Given the description of an element on the screen output the (x, y) to click on. 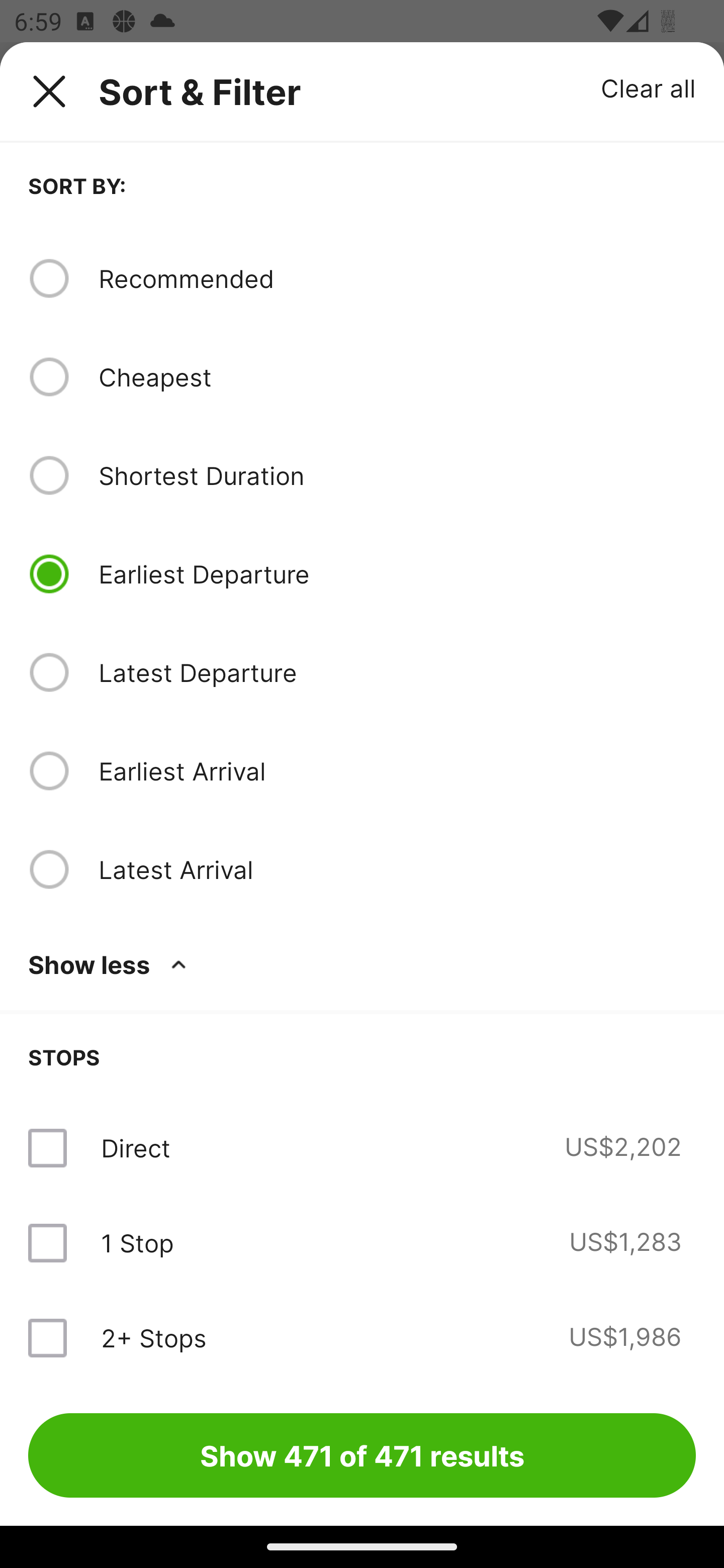
Clear all (648, 87)
Recommended  (396, 278)
Cheapest (396, 377)
Shortest Duration (396, 474)
Earliest Departure (396, 573)
Latest Departure (396, 672)
Earliest Arrival (396, 770)
Latest Arrival (396, 869)
Show less (110, 964)
Direct US$2,202 (362, 1147)
Direct (135, 1147)
1 Stop US$1,283 (362, 1242)
1 Stop (136, 1242)
2+ Stops US$1,986 (362, 1337)
2+ Stops (153, 1337)
Show 471 of 471 results (361, 1454)
